Given the description of an element on the screen output the (x, y) to click on. 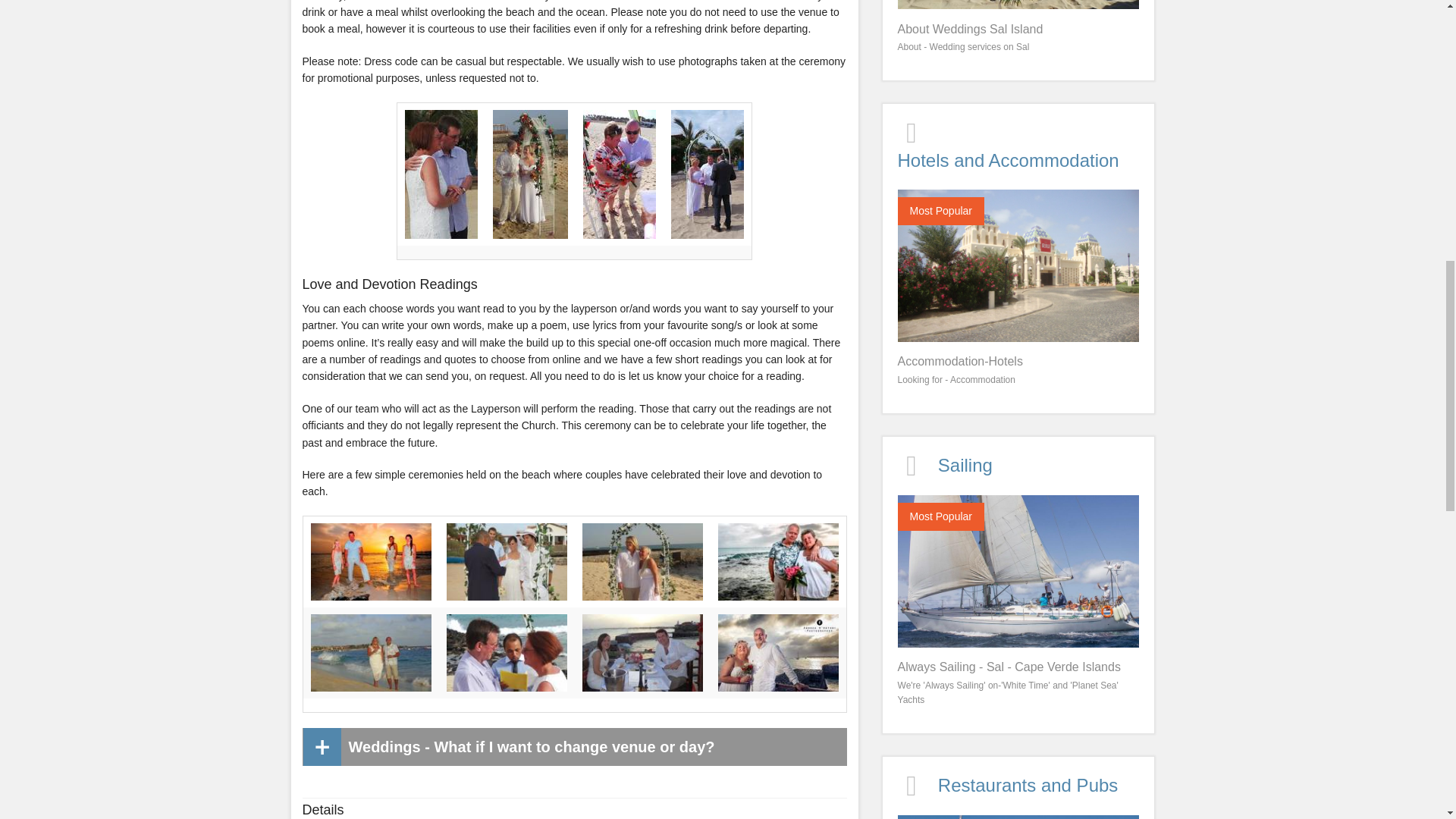
Ann and Stephens Love and Devotion Ceremony (440, 173)
A Selection of Love and Devotion Ceremonies Sal Island (642, 651)
A Selection of Love and Devotion Ceremonies Sal Island (505, 651)
Marie and Peter Love and Devotion Ceremony (707, 173)
A Selection of Love and Devotion Ceremonies Sal Island (370, 651)
A Selection of Love and Devotion Ceremonies Sal Island (505, 560)
Jaana and Victor Love and Devotion Ceremony (530, 173)
A Selection of Love and Devotion Ceremonies Sal Island (777, 560)
A Selection of Love and Devotion Ceremonies Sal Island (777, 651)
Lynn and Chris Love and Devotion Ceremony (619, 173)
A Selection of Love and Devotion Ceremonies Sal Island (370, 560)
A Selection of Love and Devotion Ceremonies Sal Island (642, 560)
